Given the description of an element on the screen output the (x, y) to click on. 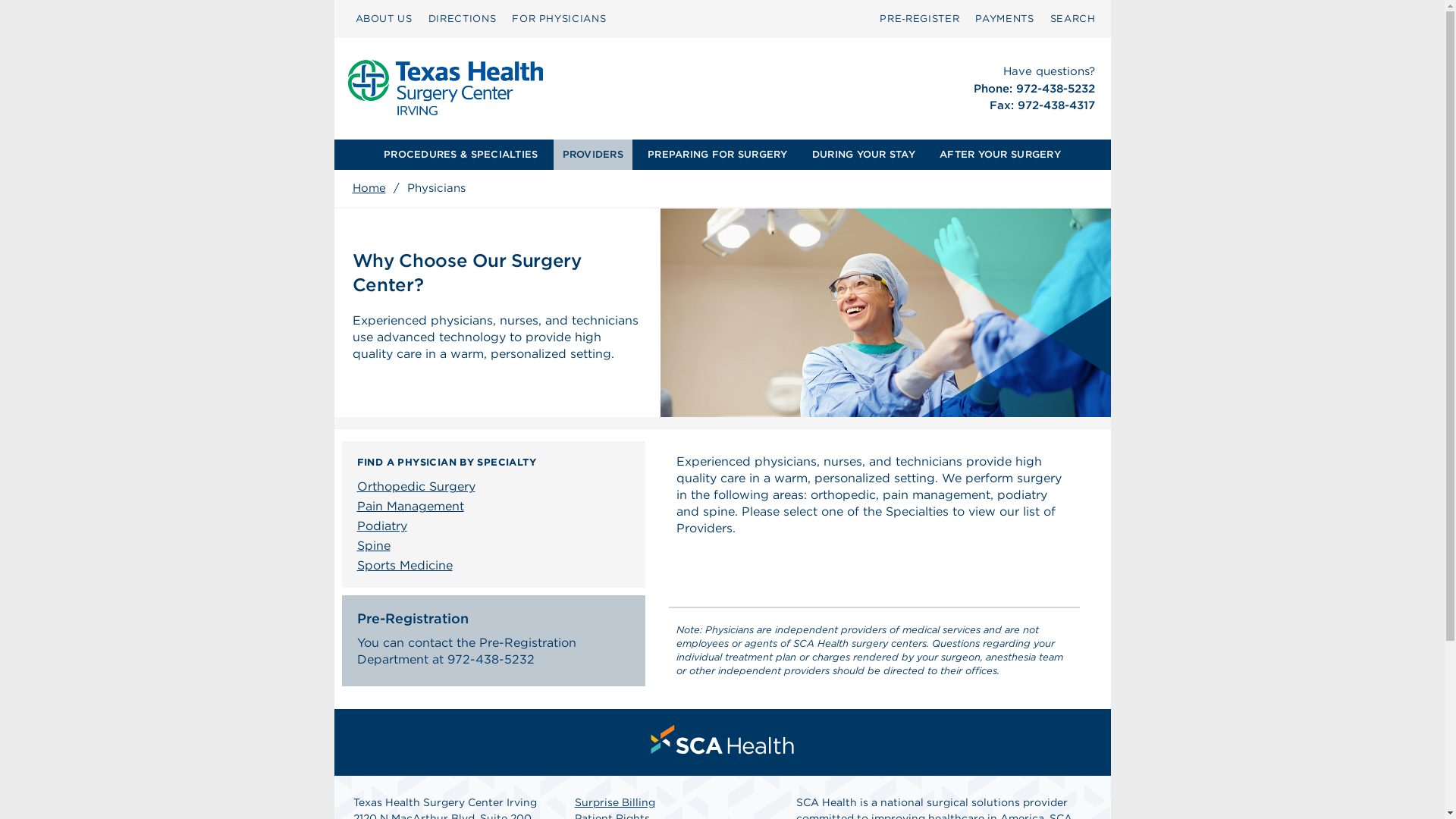
DIRECTIONS (462, 18)
DURING YOUR STAY (863, 154)
AFTER YOUR SURGERY (1000, 154)
PROVIDERS (592, 154)
Sports Medicine (496, 565)
ABOUT US (383, 18)
Home (369, 187)
Surprise Billing (615, 802)
Patient Rights (612, 815)
PREPARING FOR SURGERY (717, 154)
Orthopedic Surgery (496, 486)
Spine (496, 546)
Pain Management (496, 506)
PAYMENTS (1004, 18)
Podiatry (496, 526)
